Given the description of an element on the screen output the (x, y) to click on. 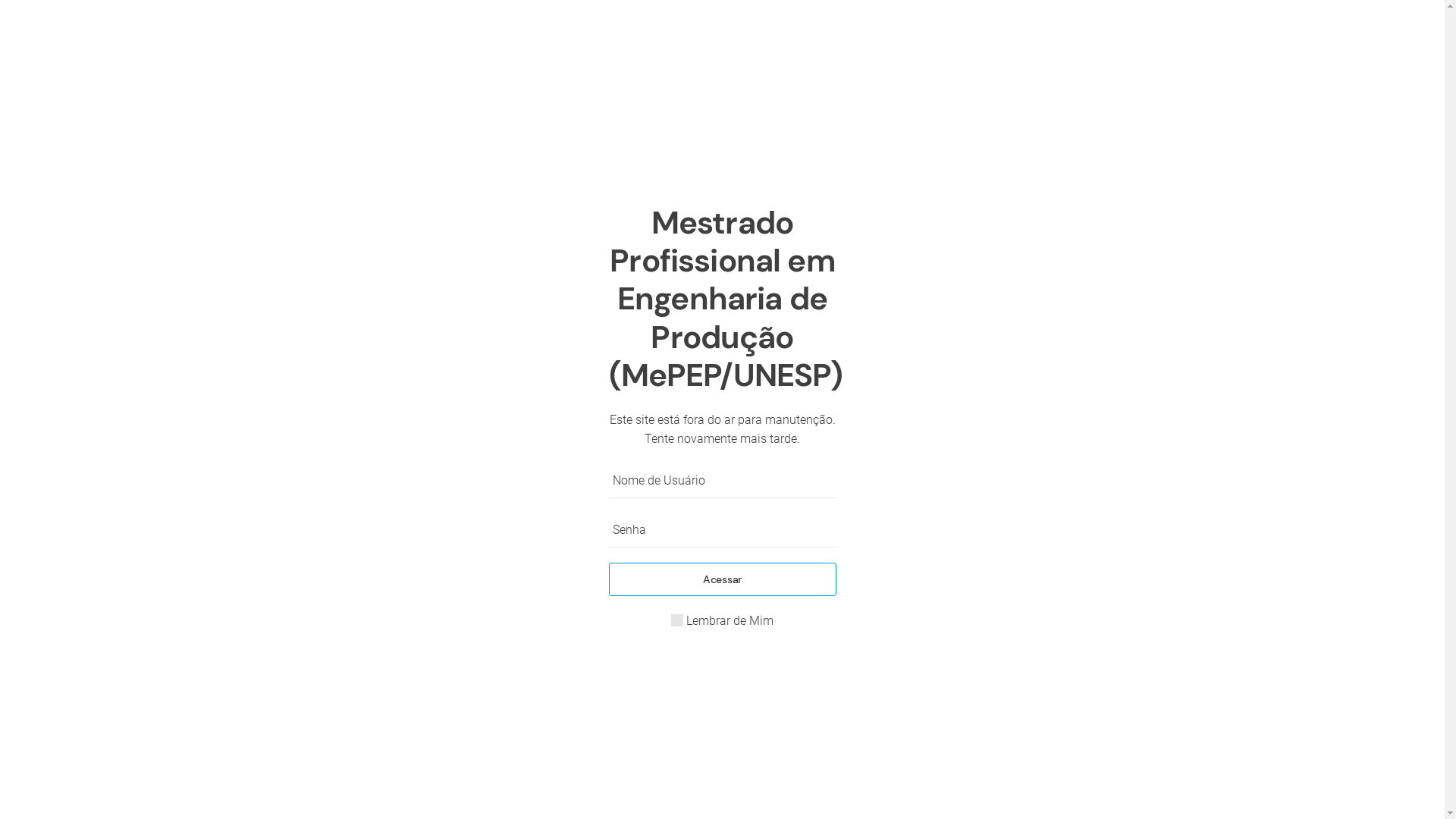
Acessar Element type: text (721, 579)
